Given the description of an element on the screen output the (x, y) to click on. 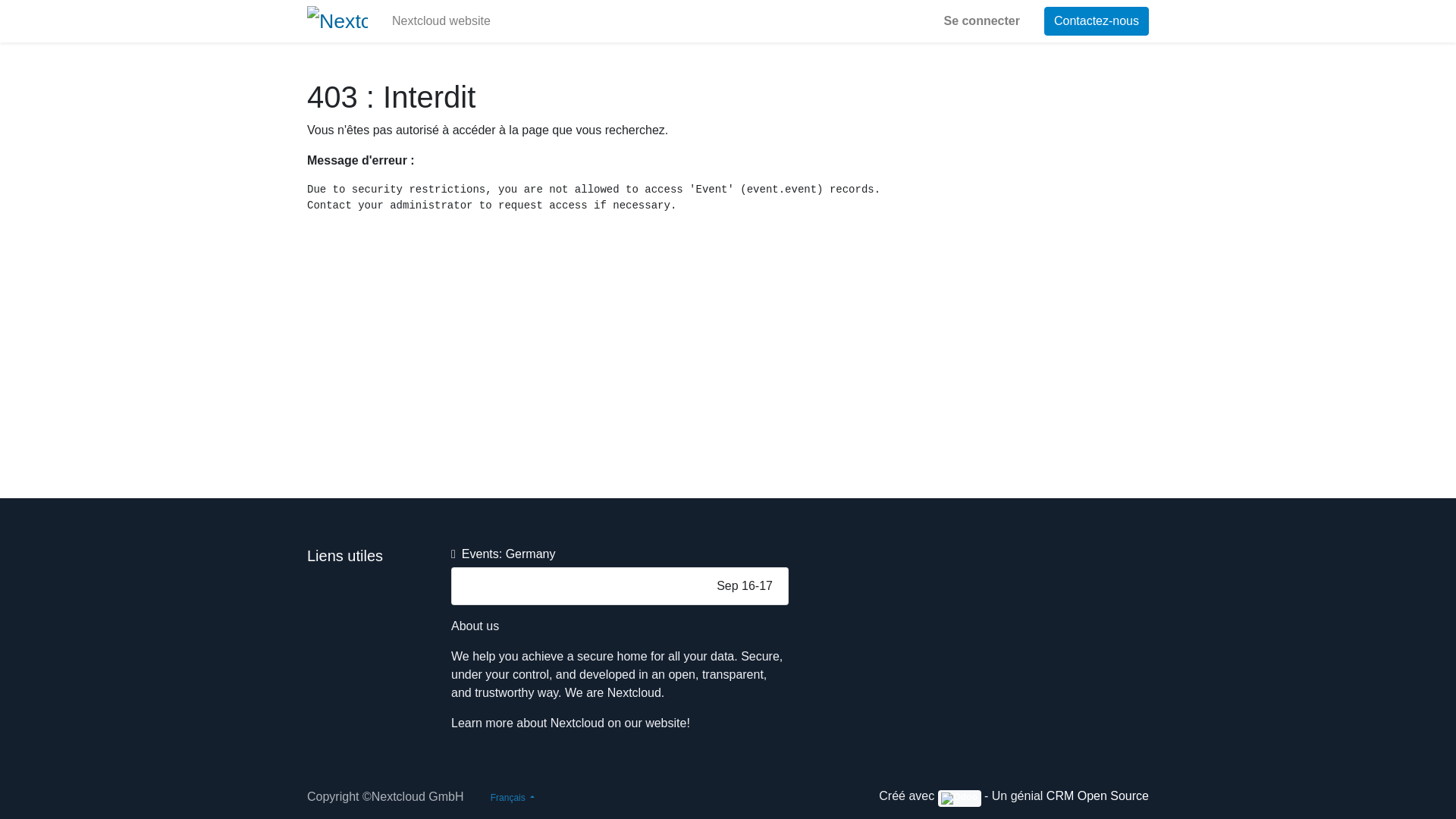
Contactez-nous (1095, 21)
Nextcloud website (440, 20)
Nextcloud Conference 2023 (542, 586)
Nextcloud (337, 20)
CRM Open Source (1097, 795)
Se connecter (981, 20)
